Given the description of an element on the screen output the (x, y) to click on. 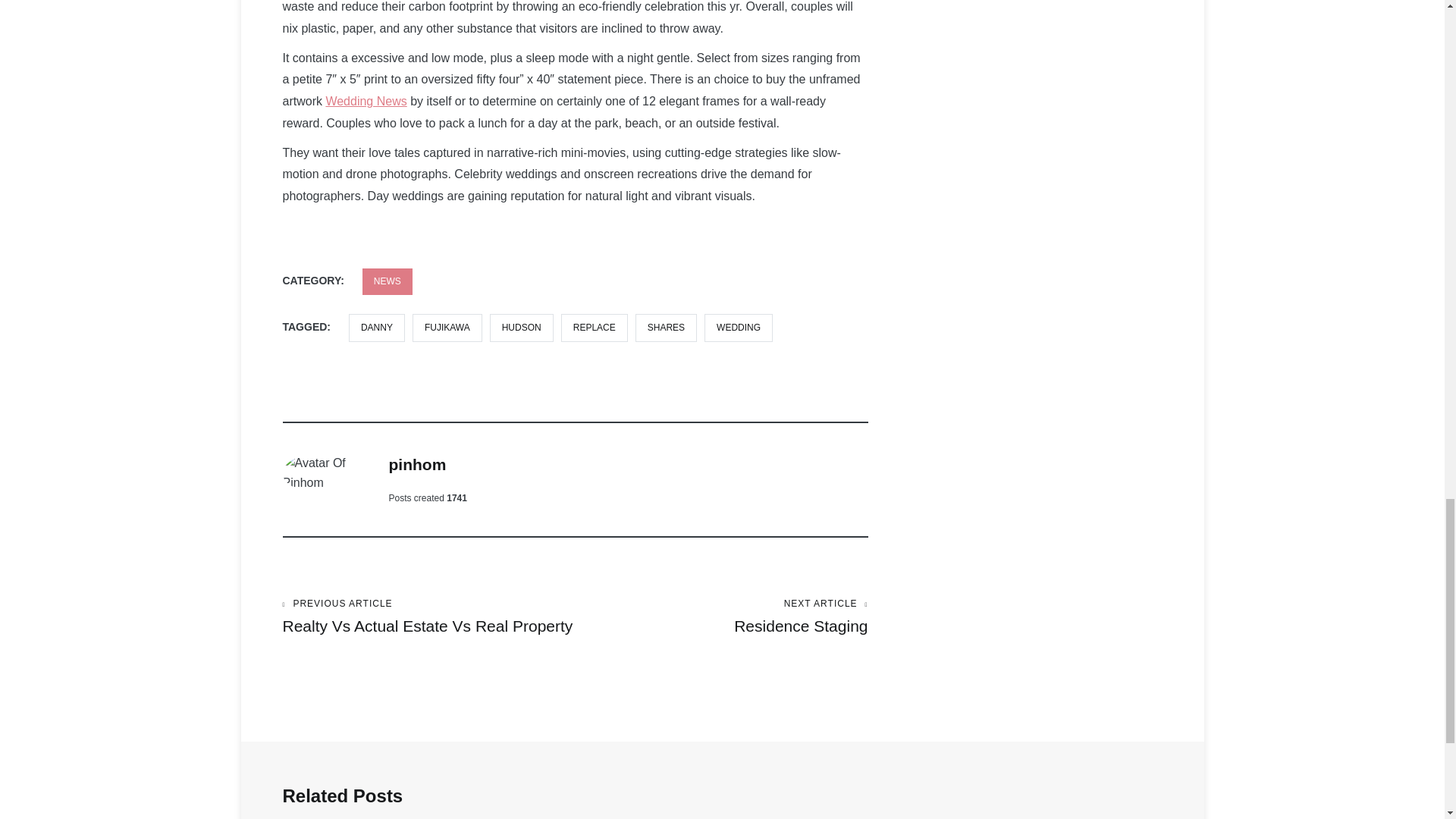
WEDDING (738, 327)
pinhom (416, 464)
Wedding News (365, 101)
HUDSON (721, 616)
SHARES (521, 327)
NEWS (665, 327)
Posts by pinhom (387, 281)
REPLACE (416, 464)
